Given the description of an element on the screen output the (x, y) to click on. 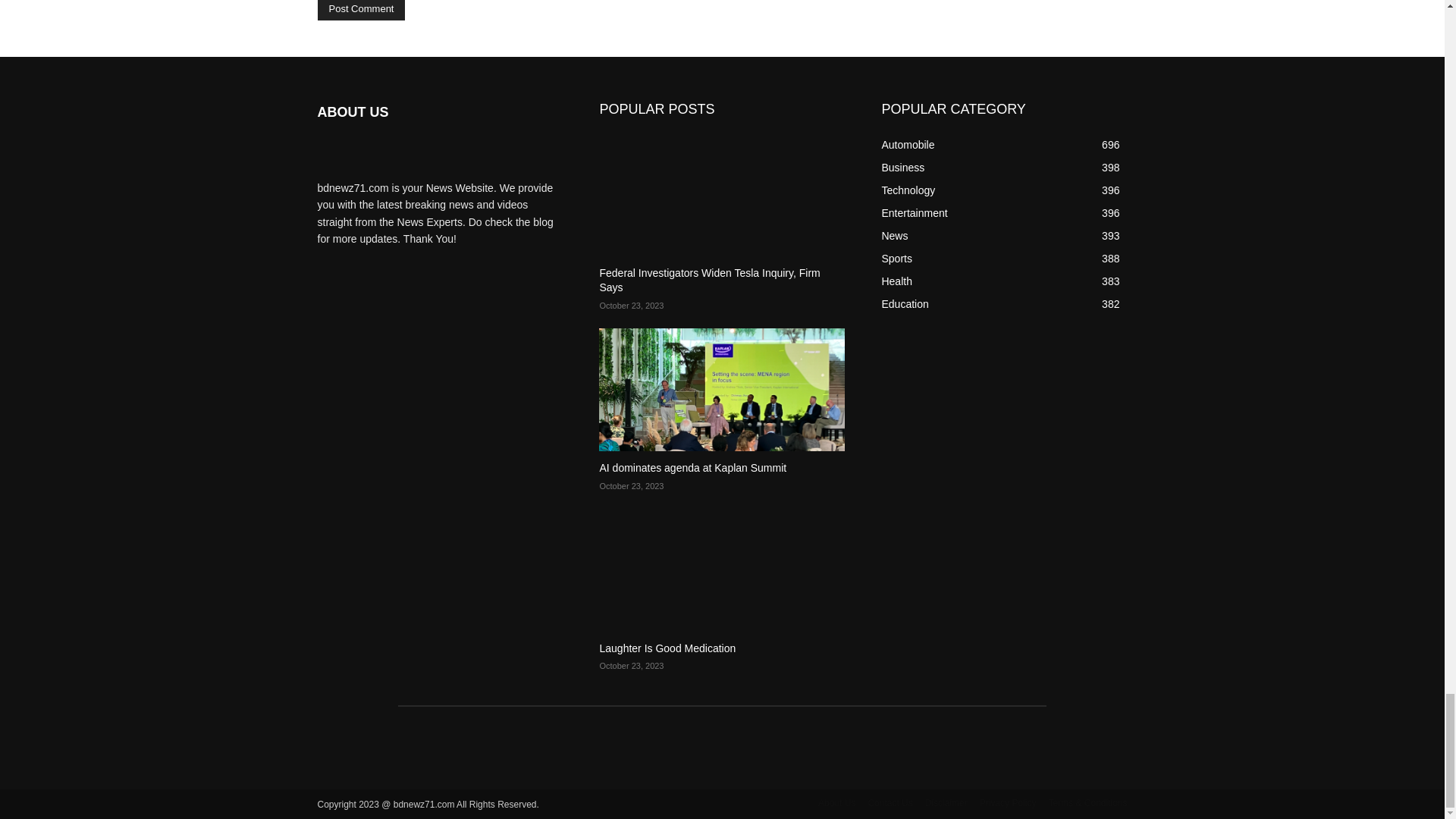
Post Comment (360, 10)
